Given the description of an element on the screen output the (x, y) to click on. 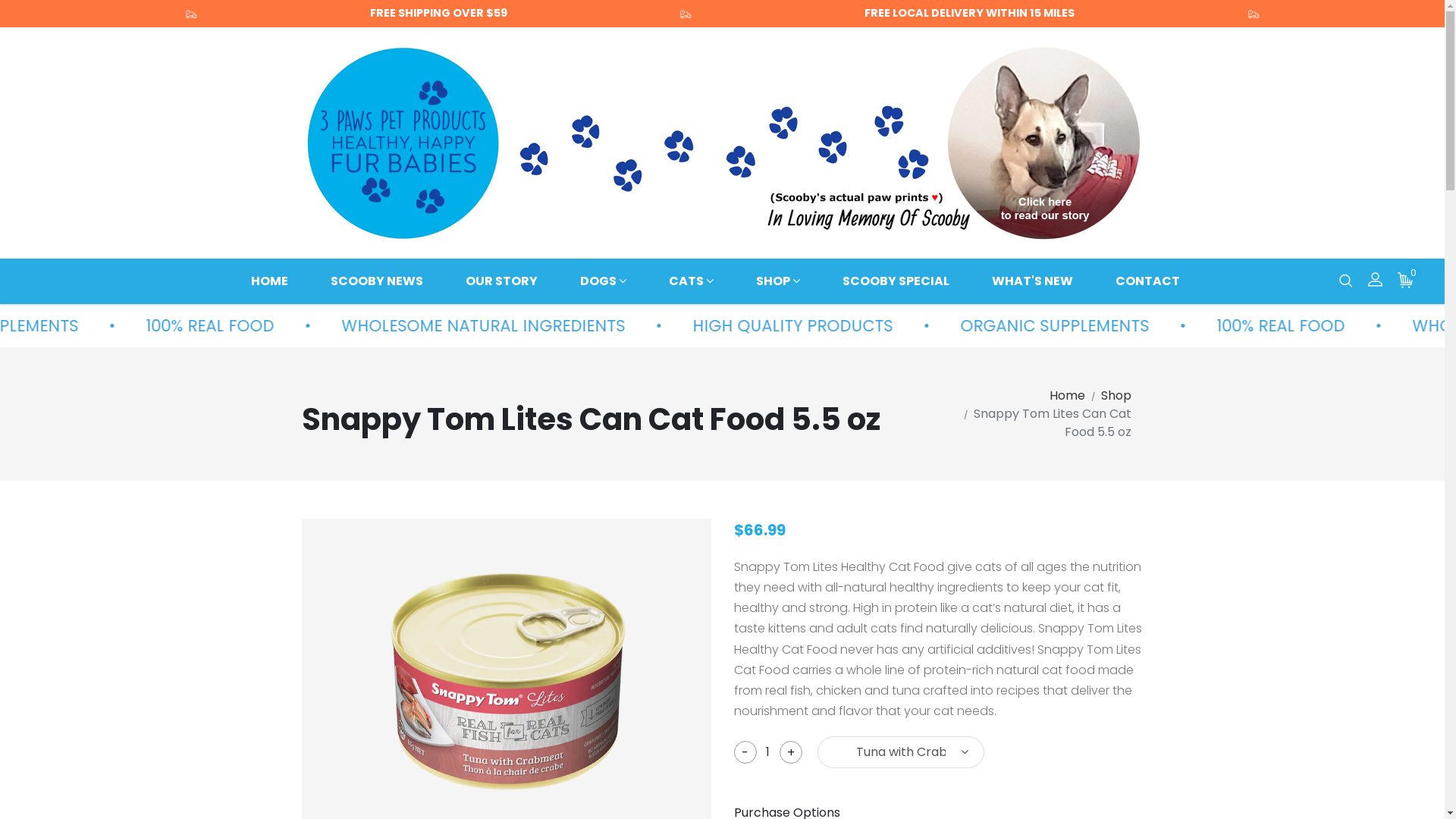
SCOOBY NEWS Element type: text (376, 281)
SHOP Element type: text (777, 281)
OUR STORY Element type: text (501, 281)
Tuna with Crabmeat (case of 24) Element type: text (900, 752)
CONTACT Element type: text (1147, 281)
DOGS Element type: text (603, 281)
CATS Element type: text (690, 281)
HOME Element type: text (269, 281)
0 Element type: text (1405, 281)
SCOOBY SPECIAL Element type: text (895, 281)
Shop Element type: text (1116, 395)
Home Element type: text (1067, 395)
WHAT'S NEW Element type: text (1032, 281)
